Given the description of an element on the screen output the (x, y) to click on. 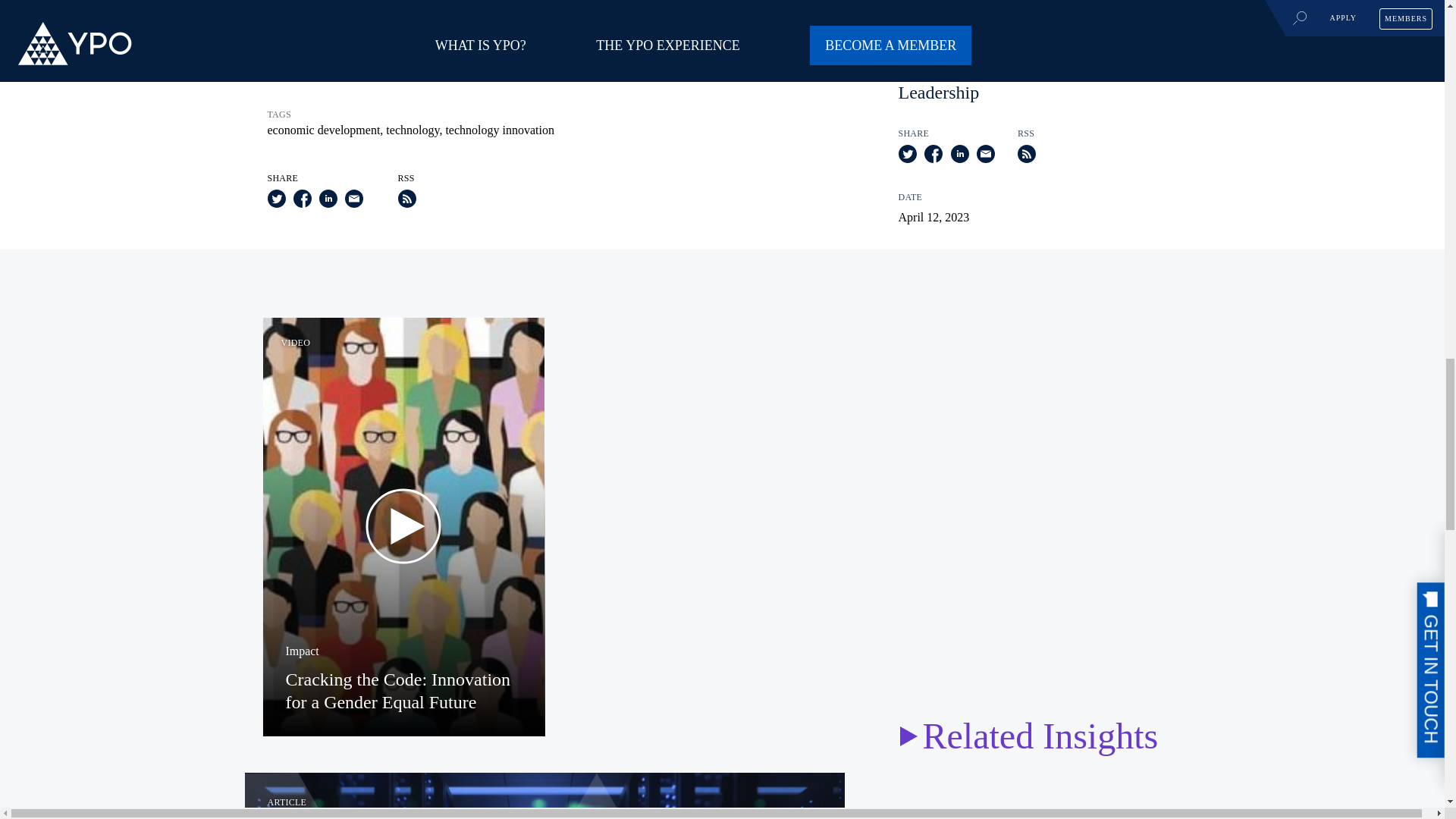
Email a link to this Article (352, 203)
Share this Article on Twitter (275, 203)
Share this Article on LinkedIn (327, 203)
Subscribe via RSS (405, 203)
